Given the description of an element on the screen output the (x, y) to click on. 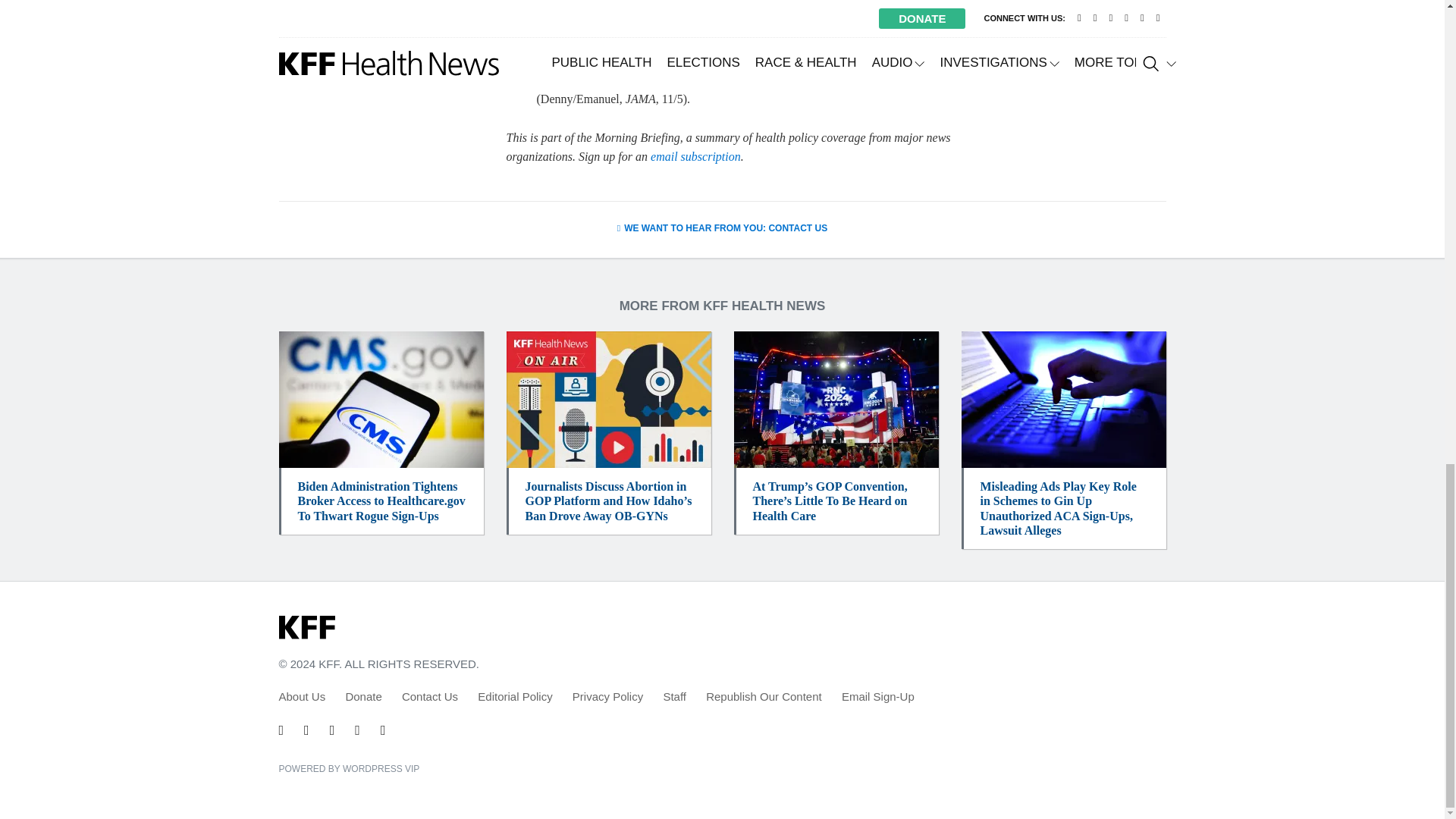
KFF (306, 627)
